Given the description of an element on the screen output the (x, y) to click on. 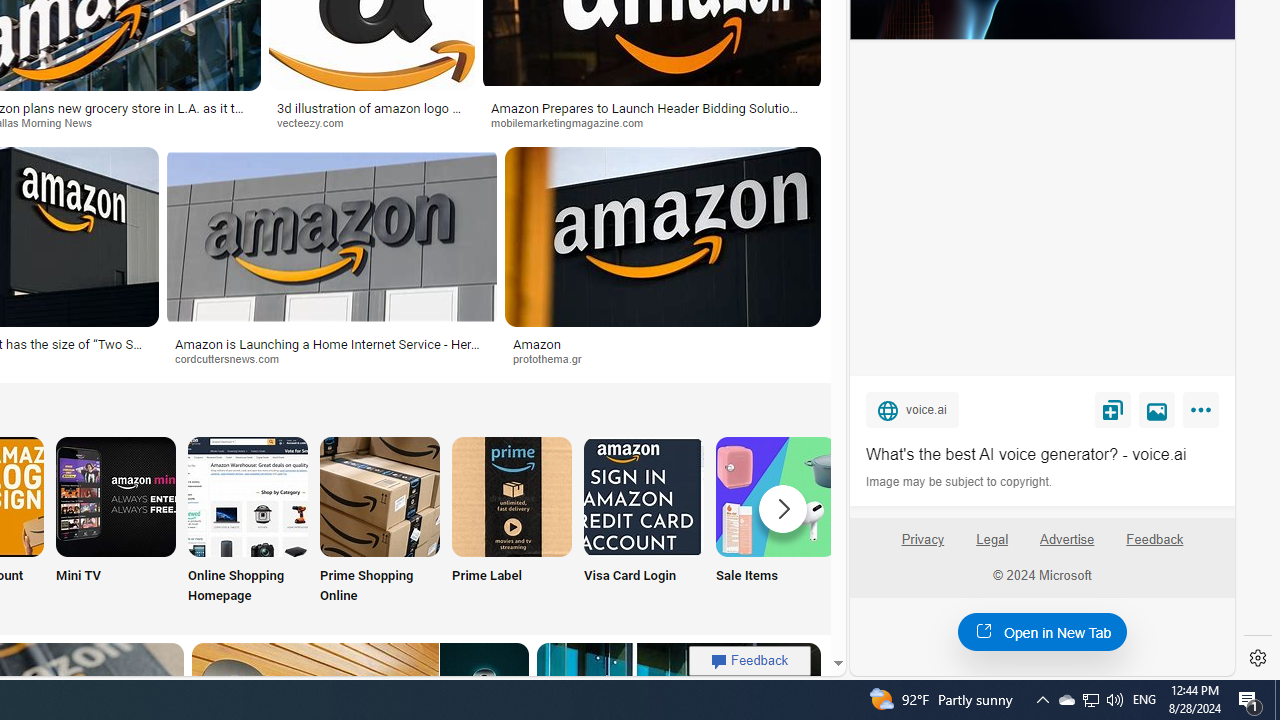
Amazon (662, 343)
vecteezy.com (371, 123)
Amazon Prime Shopping Online (380, 496)
Legal (991, 539)
Image may be subject to copyright. (959, 481)
Scroll more suggestions right (783, 508)
Privacy (922, 539)
Amazon Prime Shopping Online Prime Shopping Online (380, 521)
Online Shopping Homepage (248, 521)
Amazon Online Shopping Homepage (248, 496)
voice.ai (912, 409)
Image result for amazon (662, 236)
Visa Card Login (643, 521)
